Given the description of an element on the screen output the (x, y) to click on. 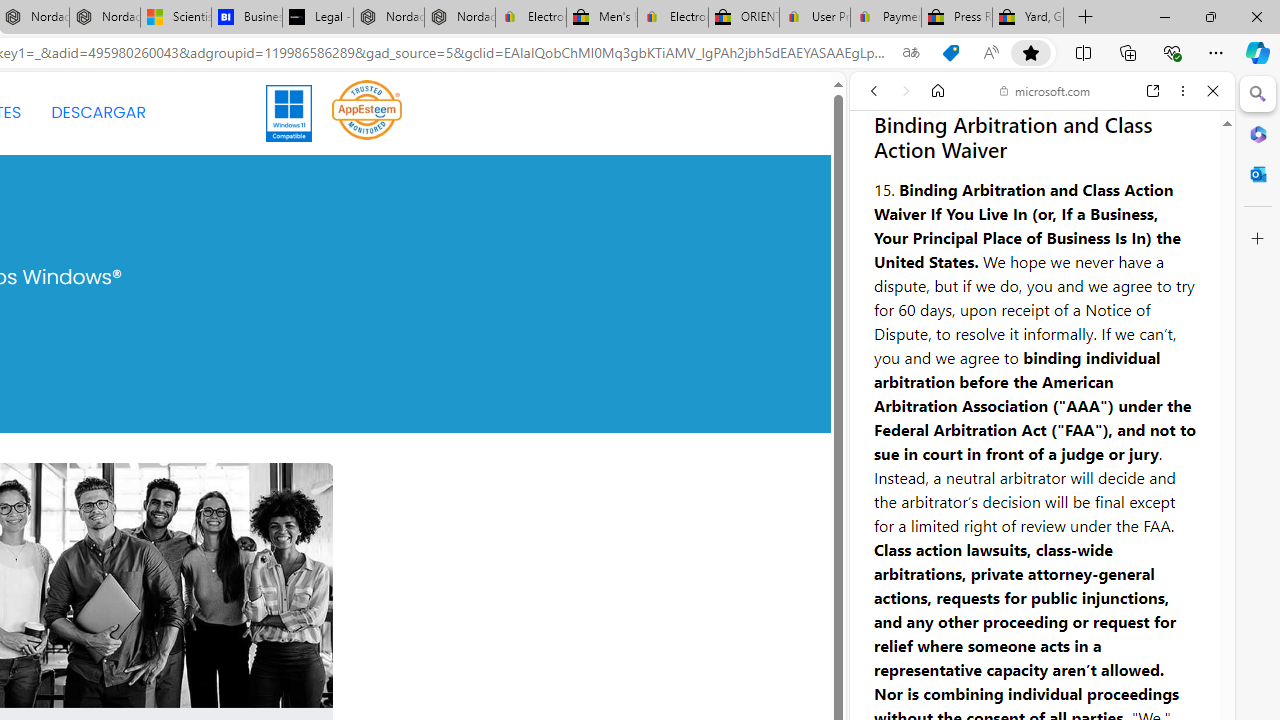
Windows 11 (289, 112)
DESCARGAR (98, 112)
microsoft.com (1045, 90)
App Esteem (367, 112)
